Given the description of an element on the screen output the (x, y) to click on. 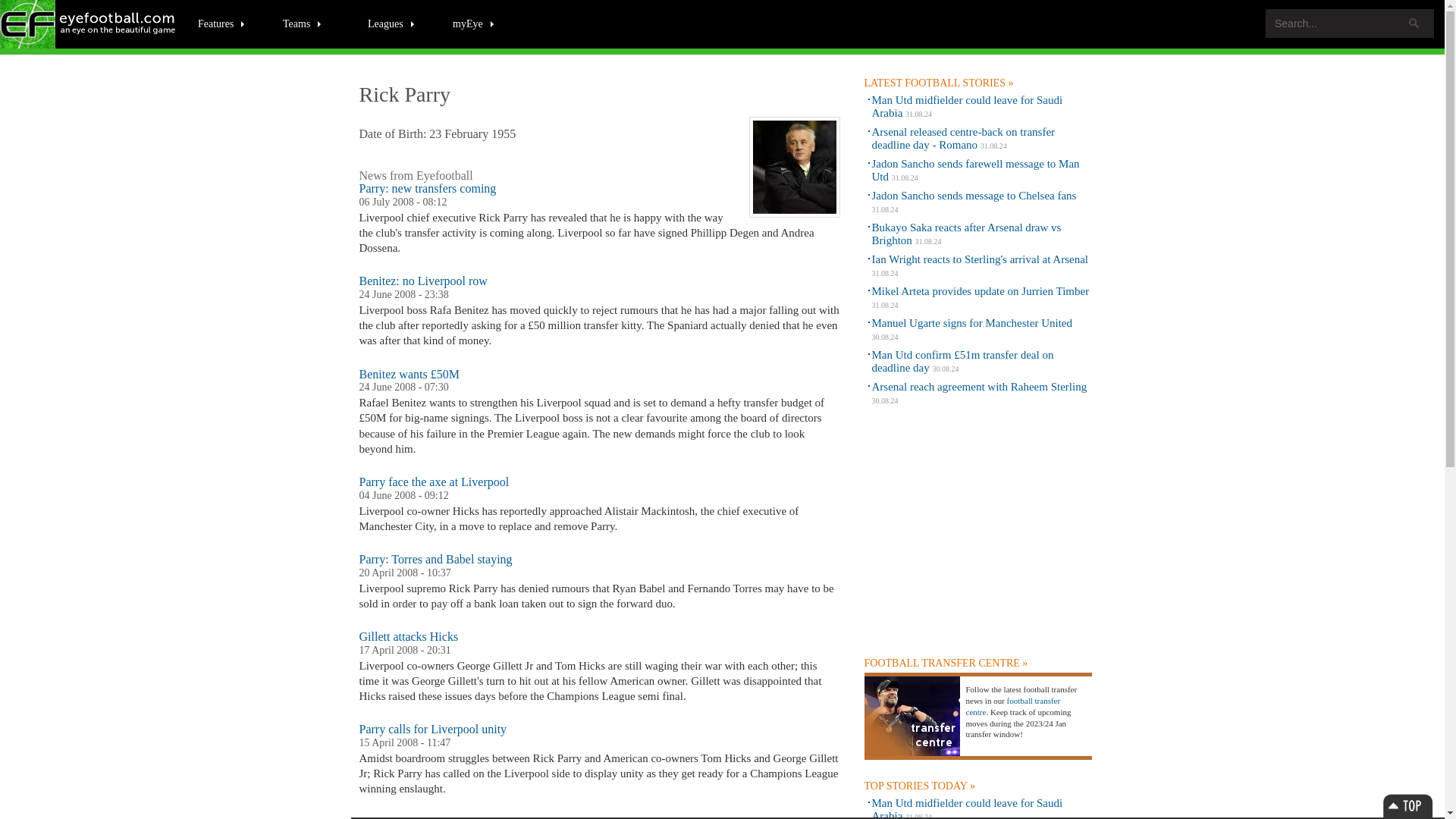
Features (221, 23)
Search... (1349, 23)
Teams (301, 23)
Search (1414, 22)
Search (1414, 22)
Top (1407, 805)
